Given the description of an element on the screen output the (x, y) to click on. 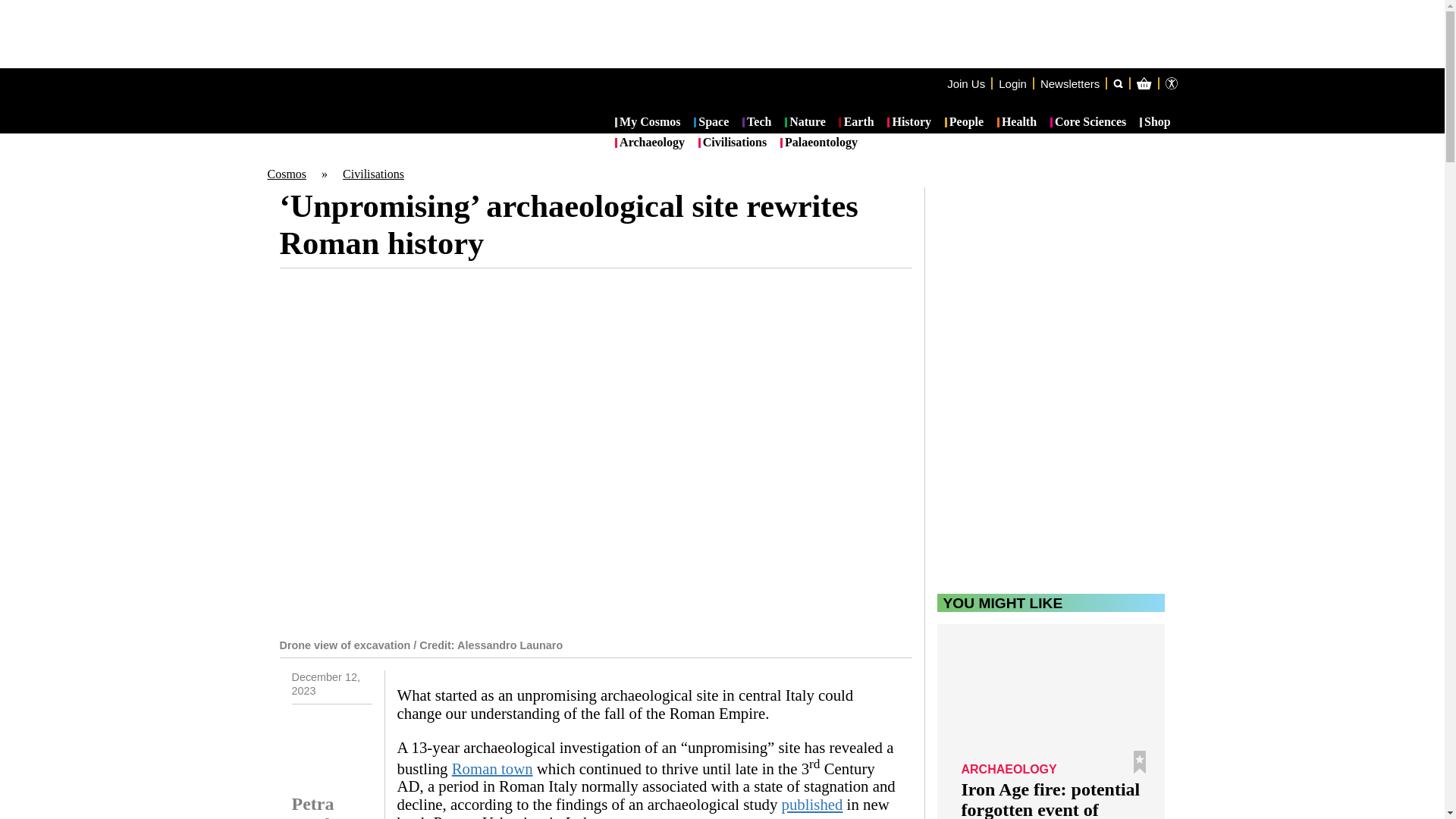
Core Sciences (1087, 122)
Archaeology (649, 143)
People (964, 122)
Earth (855, 122)
Cart (1223, 144)
Civilisations (732, 143)
Civilisations (373, 173)
Space (711, 122)
Palaeontology (818, 143)
My Cosmos (647, 122)
History (908, 122)
Roman town (491, 767)
Tech (756, 122)
Join Us (966, 82)
Accessibility Tools (1170, 82)
